Given the description of an element on the screen output the (x, y) to click on. 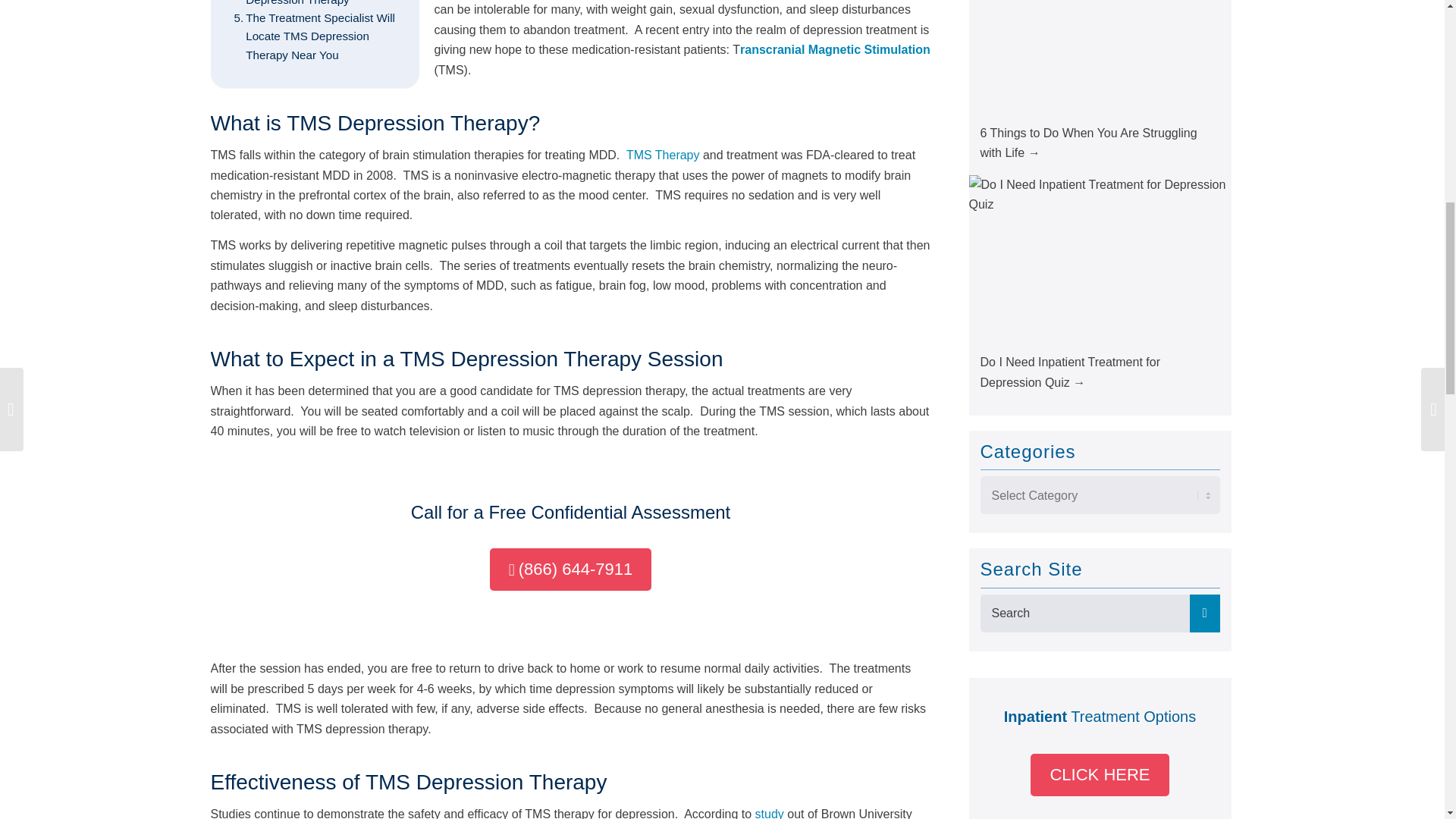
Effectiveness of TMS Depression Therapy (313, 4)
